Given the description of an element on the screen output the (x, y) to click on. 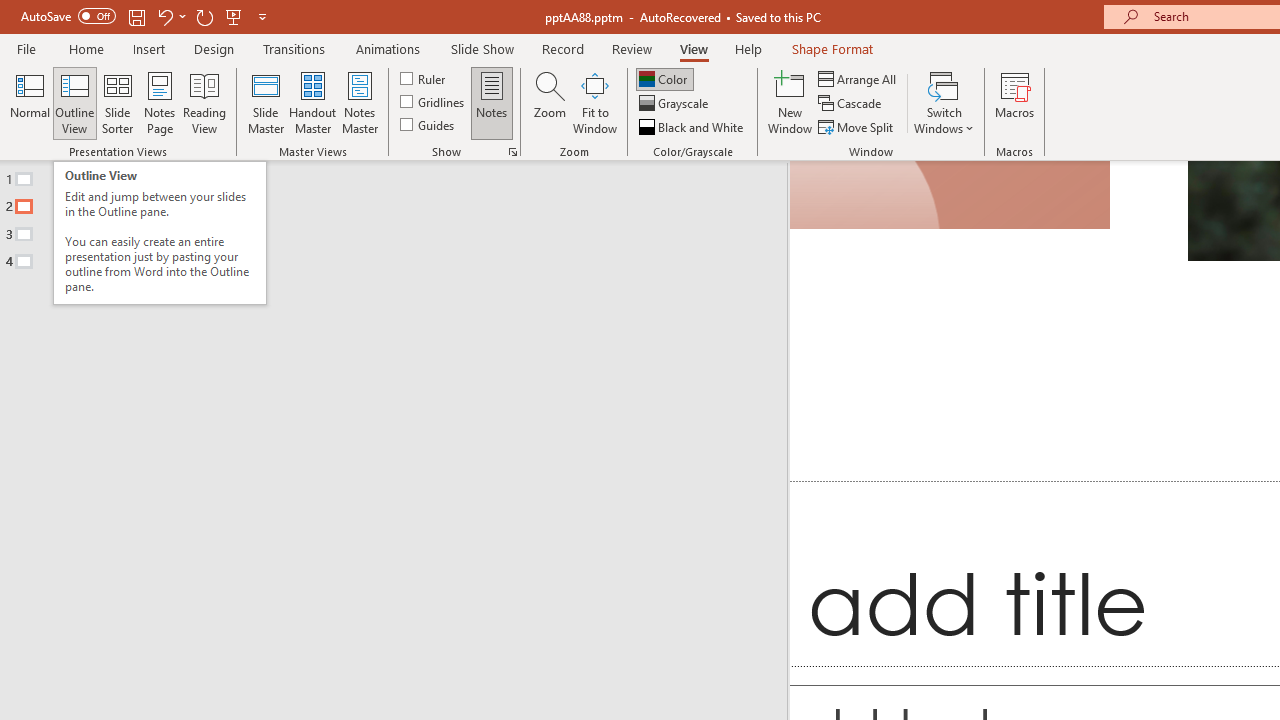
Handout Master (312, 102)
Color (664, 78)
